Given the description of an element on the screen output the (x, y) to click on. 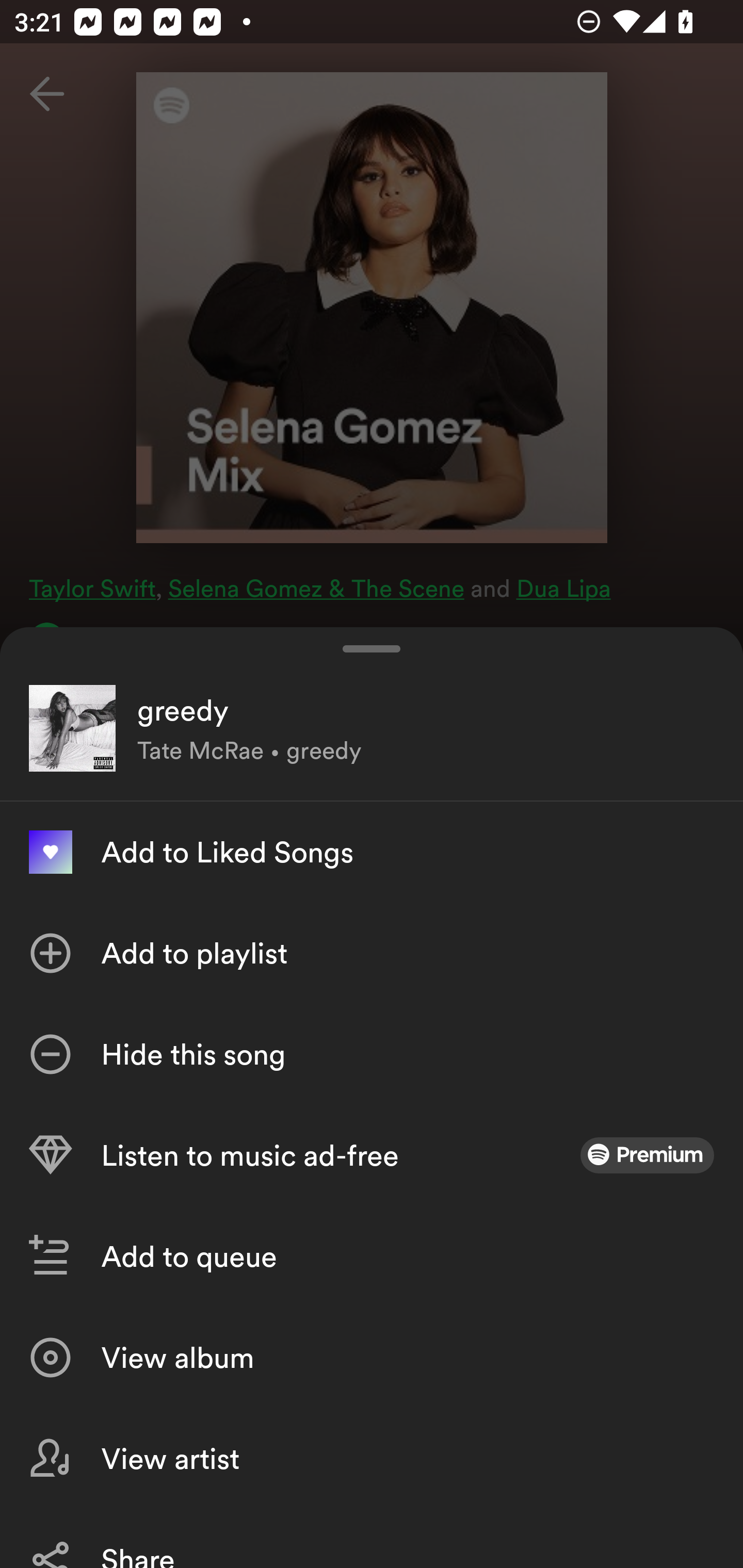
Add to Liked Songs (371, 852)
Add to playlist (371, 953)
Hide this song (371, 1054)
Listen to music ad-free (371, 1155)
Add to queue (371, 1256)
View album (371, 1357)
View artist (371, 1458)
Share (371, 1538)
